Given the description of an element on the screen output the (x, y) to click on. 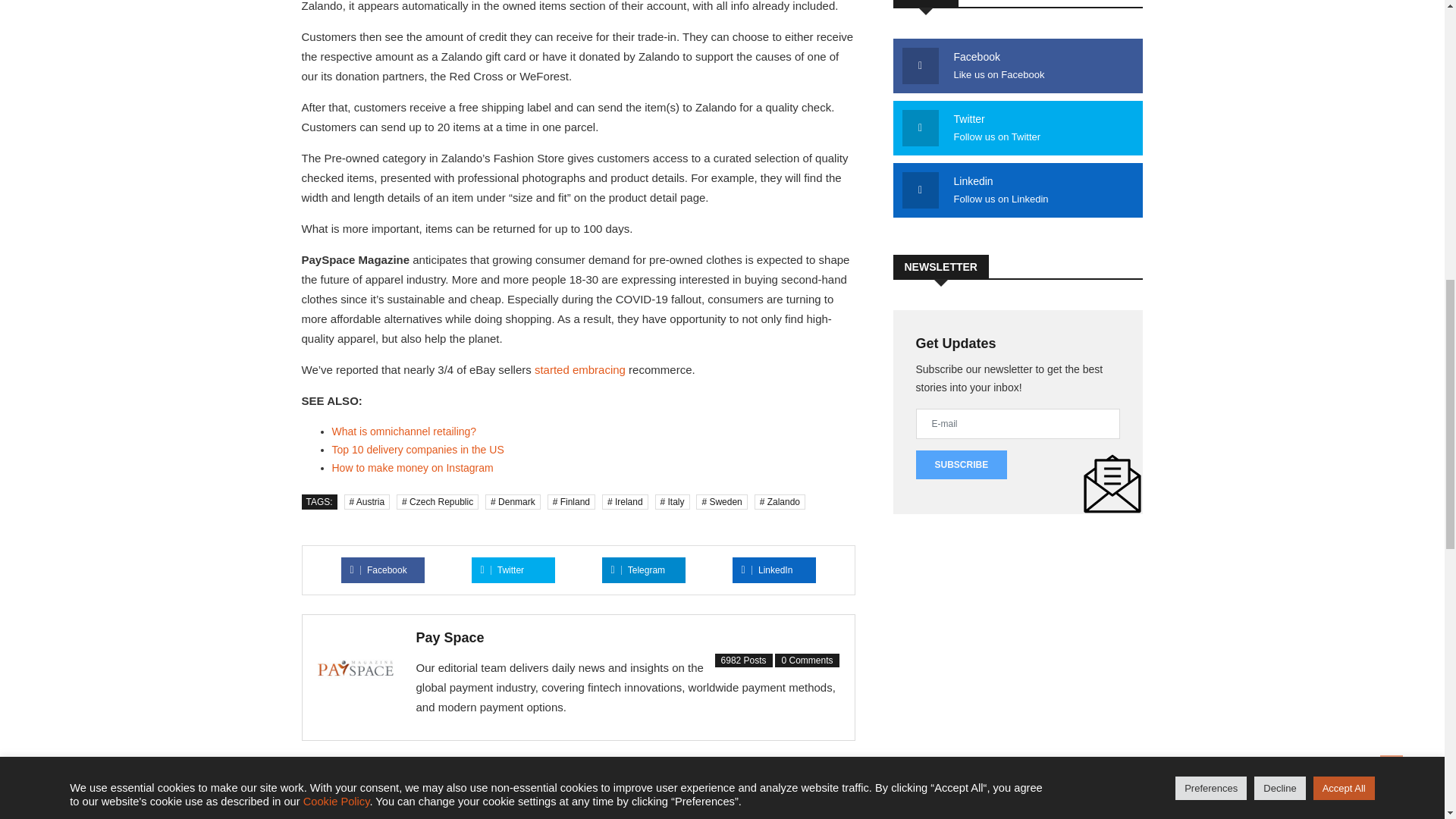
Facebook (378, 570)
started embracing (580, 369)
Twitter (502, 570)
LinkedIn (767, 570)
How to make money on Instagram (733, 796)
Telegram (412, 467)
What is omnichannel retailing? (638, 570)
Top 10 delivery companies in the US (404, 431)
